Given the description of an element on the screen output the (x, y) to click on. 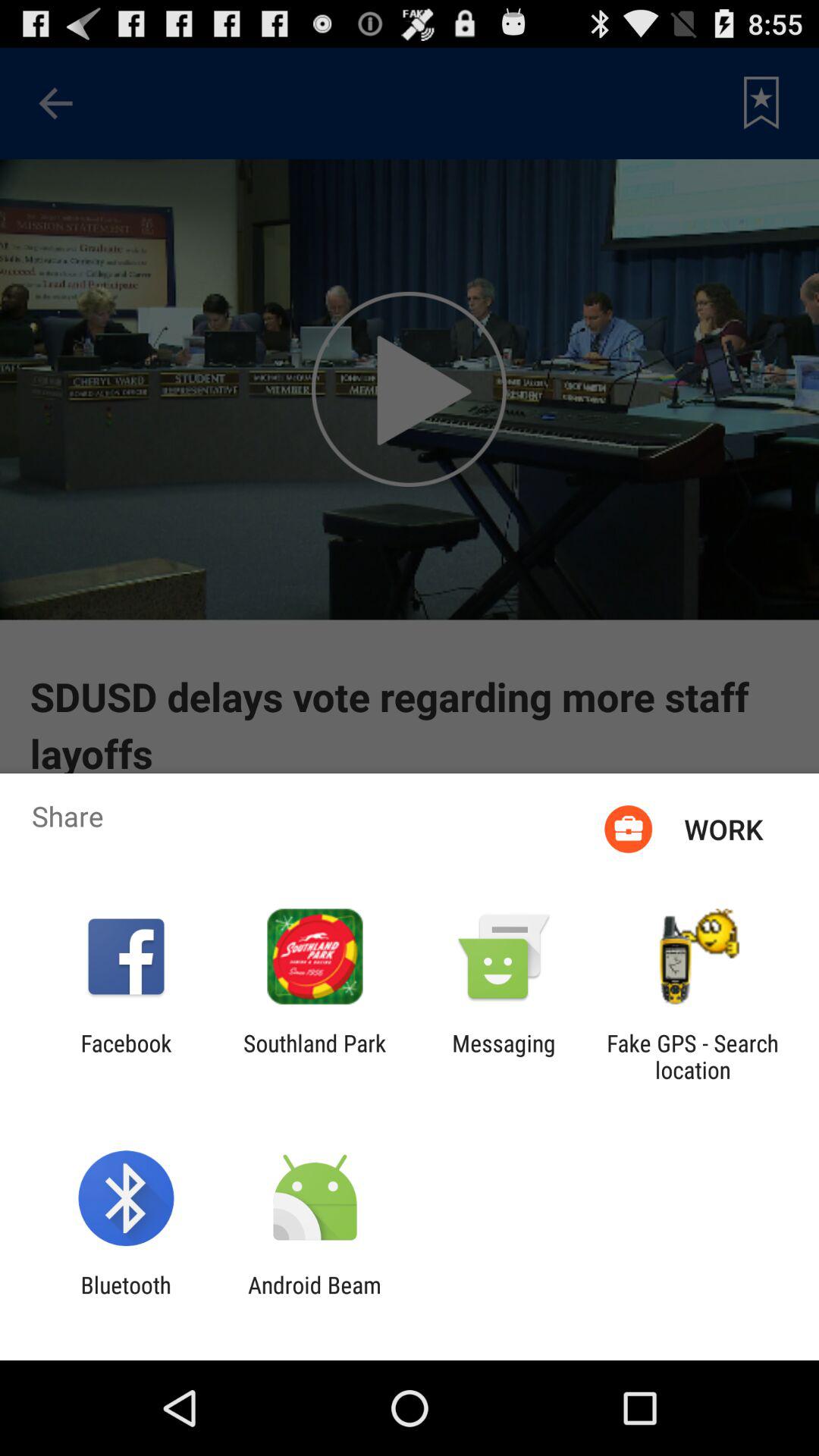
tap the item next to messaging app (314, 1056)
